Given the description of an element on the screen output the (x, y) to click on. 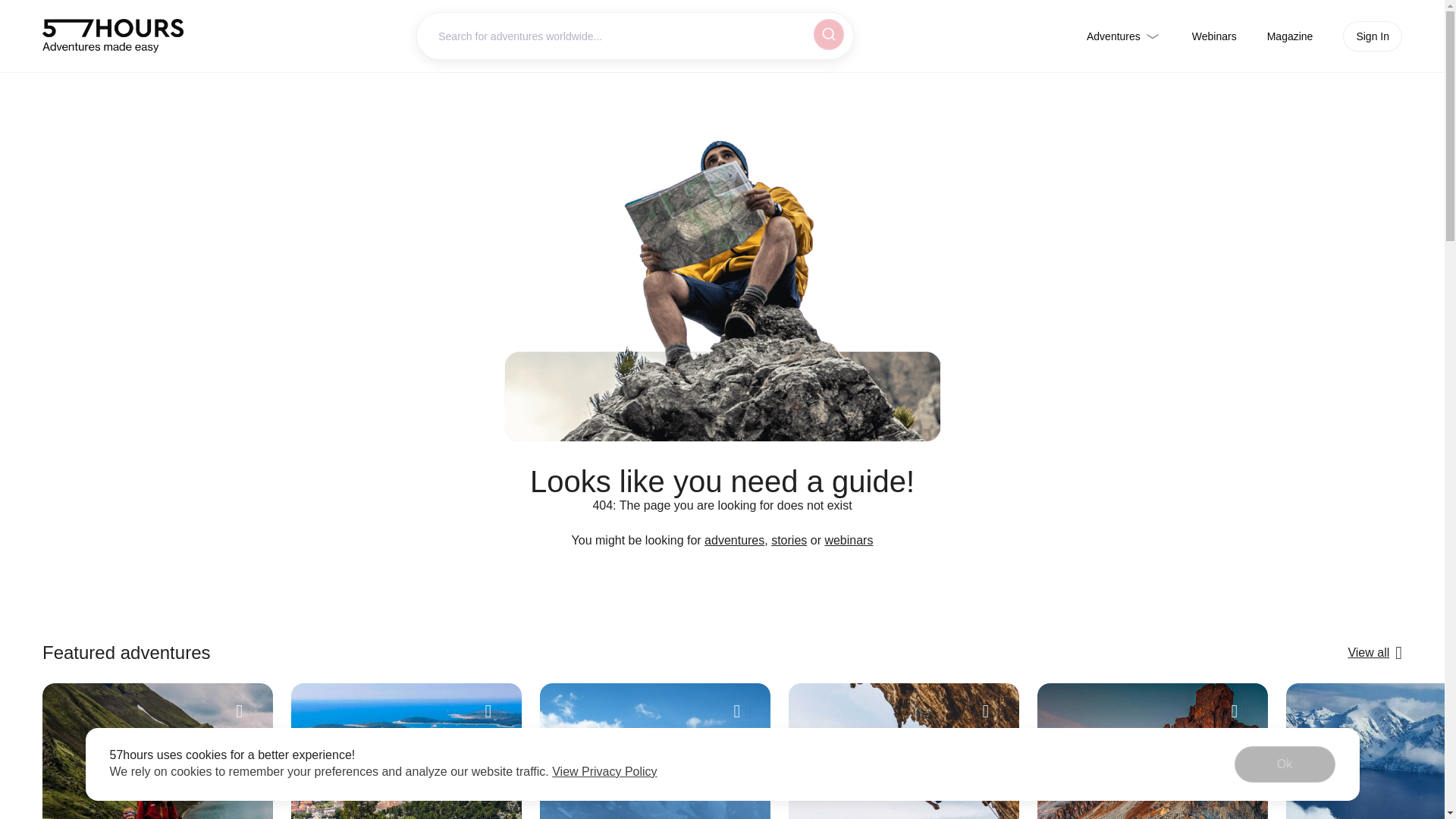
Submit (825, 33)
Adventures (1123, 36)
